Given the description of an element on the screen output the (x, y) to click on. 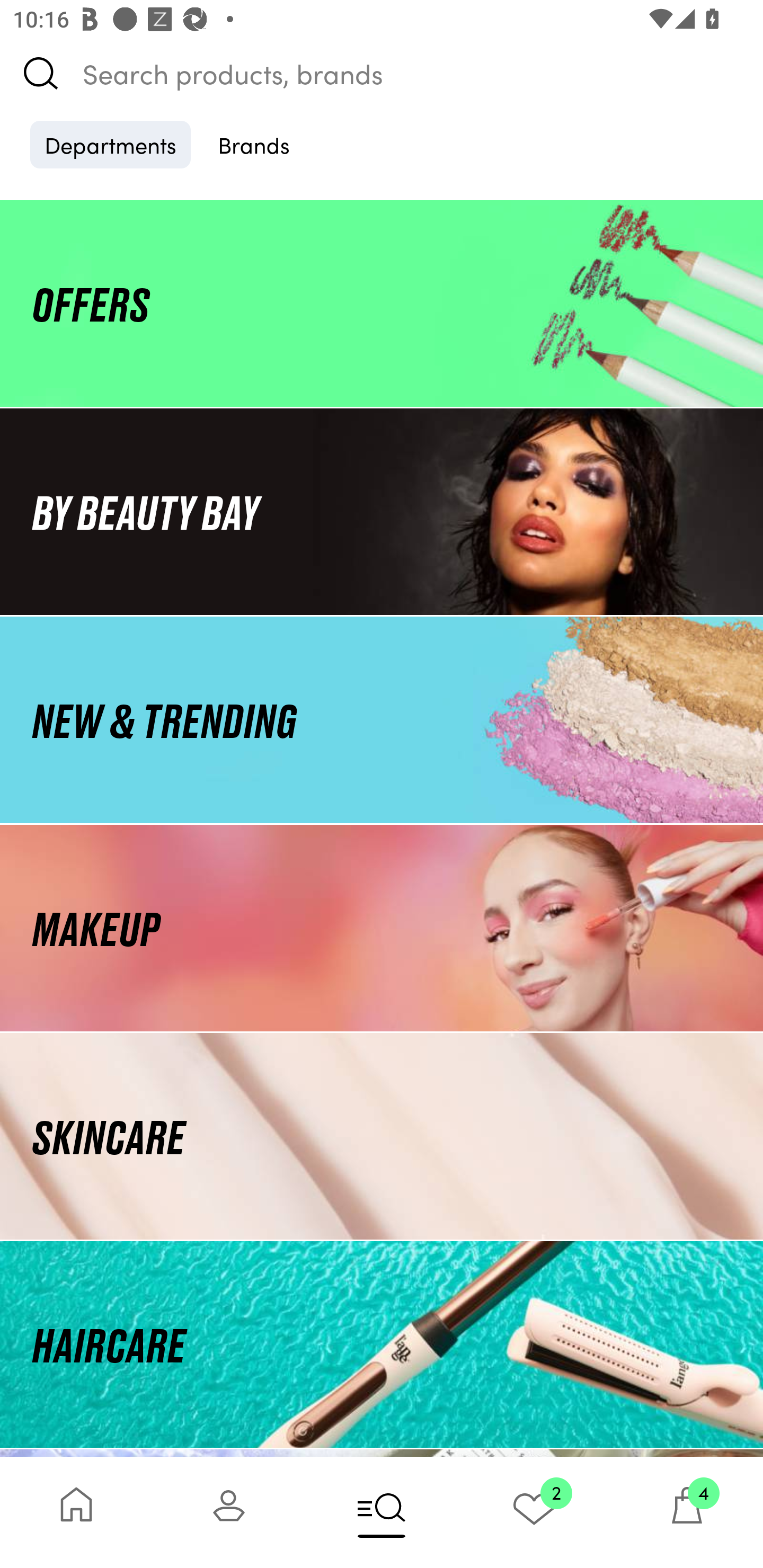
Search products, brands (381, 72)
Departments (110, 143)
Brands (253, 143)
OFFERS (381, 303)
BY BEAUTY BAY (381, 510)
NEW & TRENDING (381, 719)
MAKEUP (381, 927)
SKINCARE (381, 1136)
HAIRCARE (381, 1344)
2 (533, 1512)
4 (686, 1512)
